Given the description of an element on the screen output the (x, y) to click on. 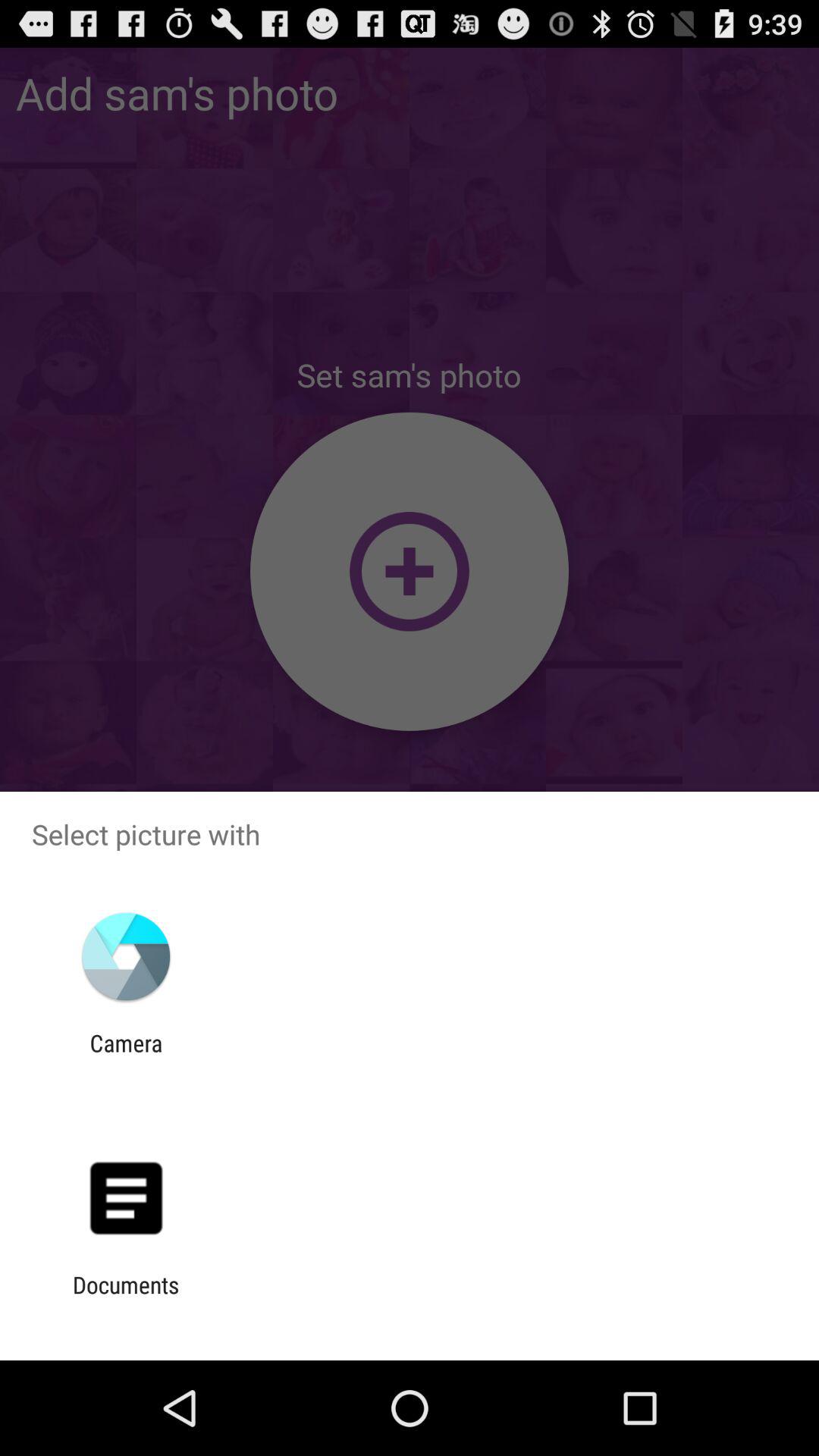
scroll to the documents item (125, 1298)
